Given the description of an element on the screen output the (x, y) to click on. 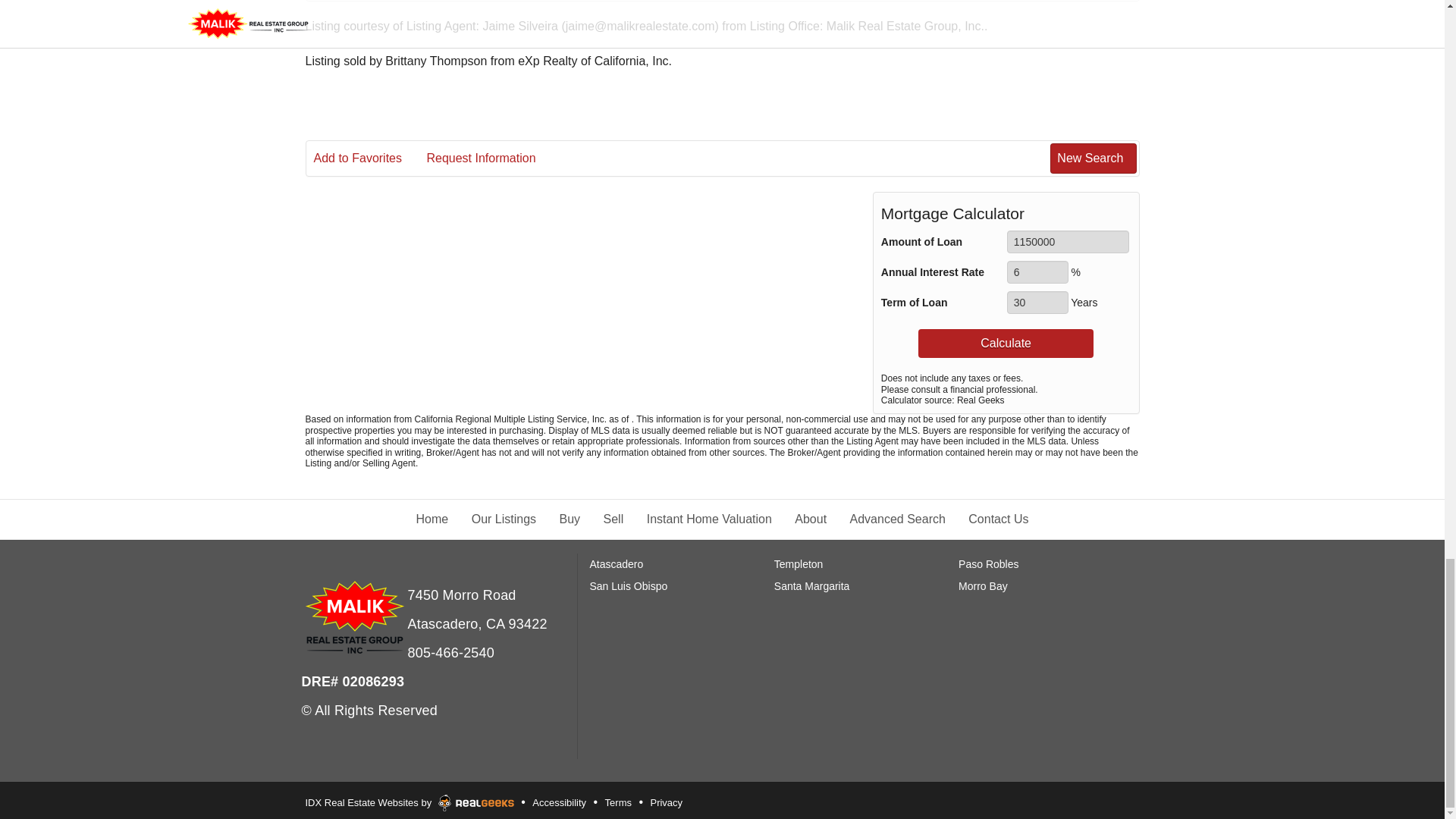
6 (1037, 272)
30 (1037, 302)
1150000 (1068, 241)
